Given the description of an element on the screen output the (x, y) to click on. 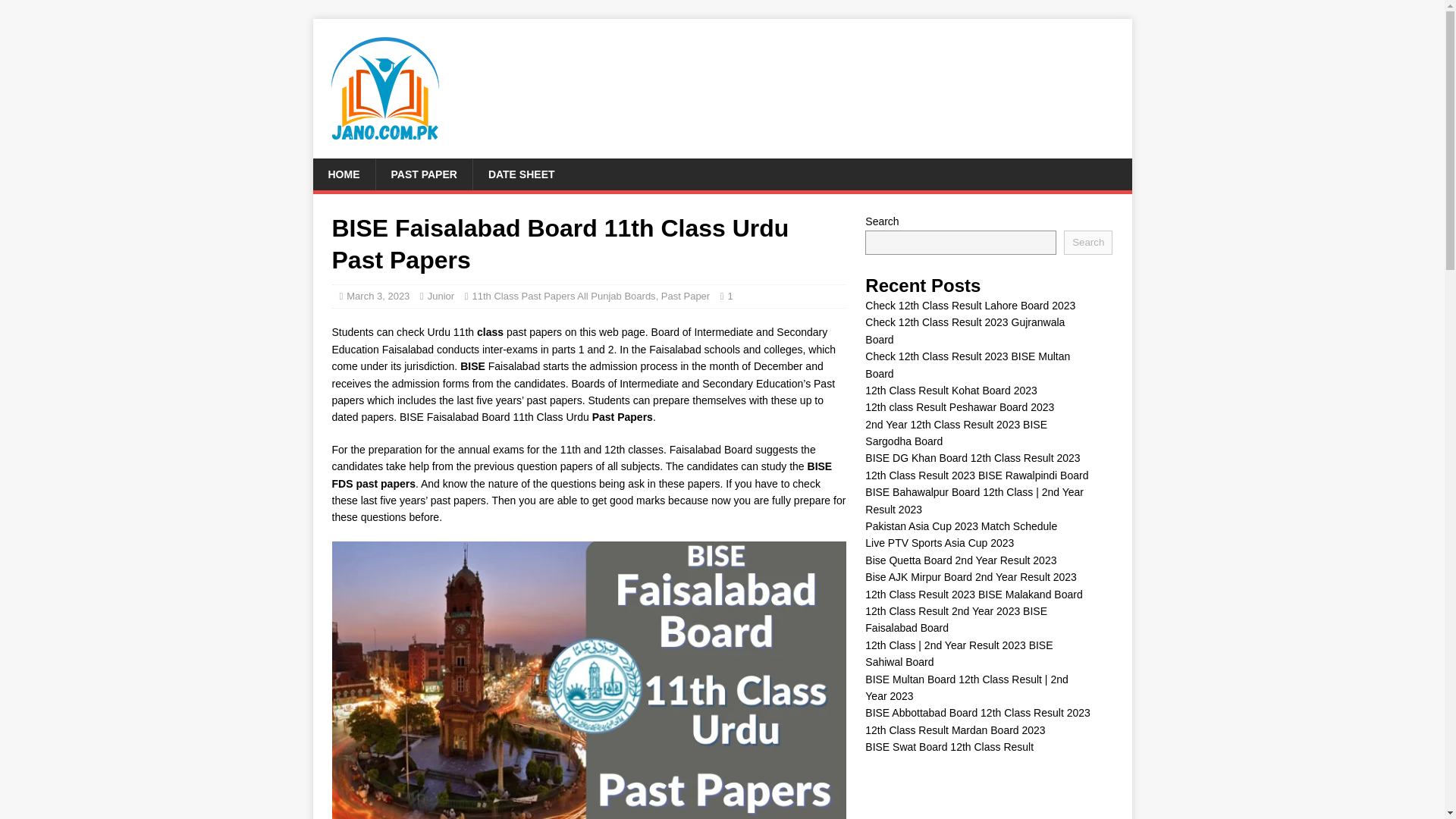
Junior (441, 296)
Bise Quetta Board 2nd Year Result 2023 (960, 560)
12th class Result Peshawar Board 2023 (959, 407)
Past Paper (685, 296)
HOME (343, 174)
Check 12th Class Result 2023 Gujranwala Board (964, 330)
PAST PAPER (422, 174)
11th Class Past Papers All Punjab Boards (563, 296)
2nd Year 12th Class Result 2023 BISE Sargodha Board (955, 432)
Live PTV Sports Asia Cup 2023 (938, 542)
12th Class Result Kohat Board 2023 (950, 390)
Pakistan Asia Cup 2023 Match Schedule (960, 526)
12th Class Result 2023 BISE Rawalpindi Board (975, 475)
March 3, 2023 (377, 296)
Check 12th Class Result 2023 BISE Multan Board (967, 364)
